Given the description of an element on the screen output the (x, y) to click on. 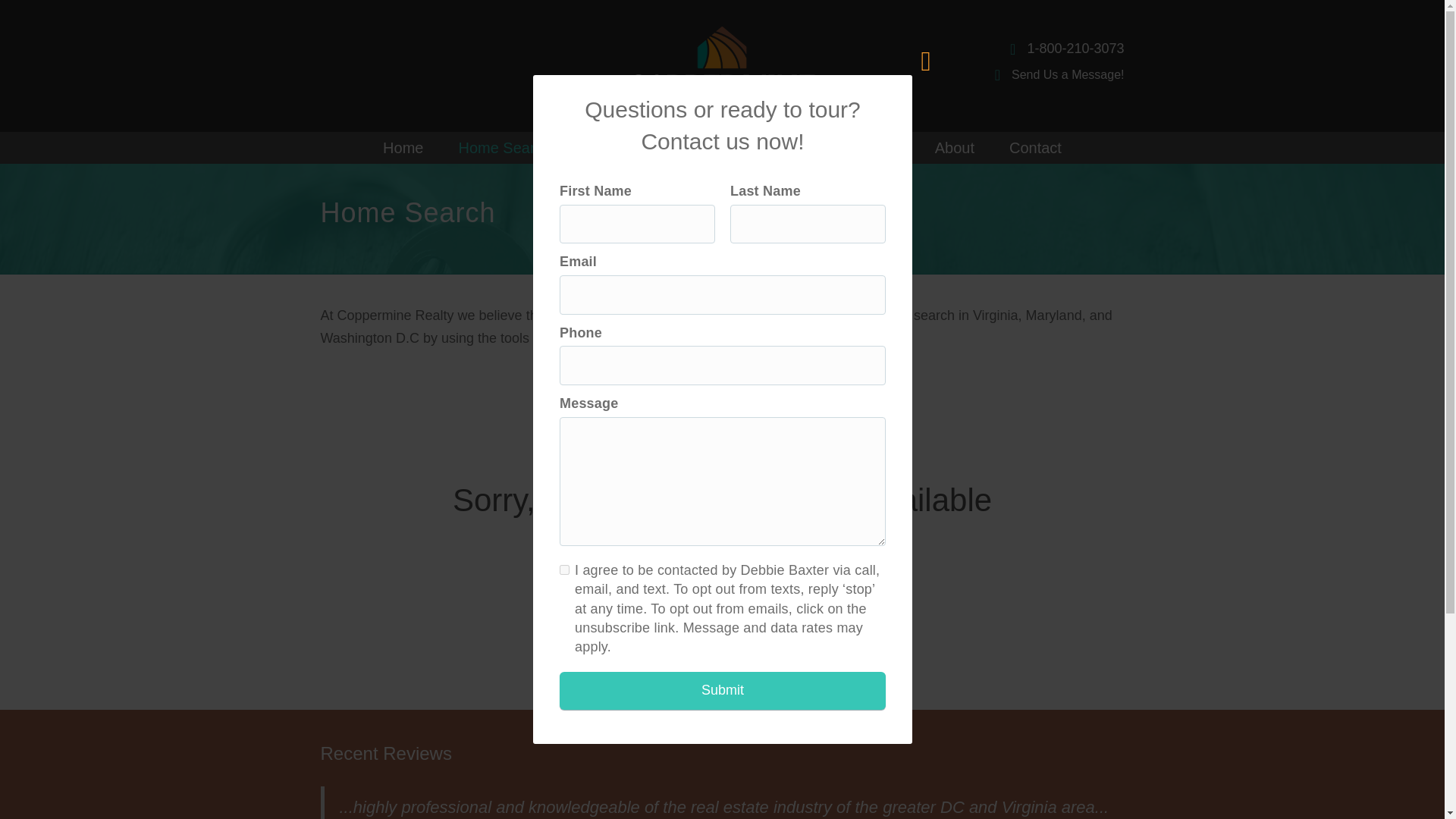
Start A New Search (721, 612)
Coppermine Listings (655, 147)
logo-whitetext-transpshad370 (721, 65)
Home (402, 147)
on (564, 569)
Contact us now! (797, 337)
Send Us a Message! (1074, 75)
Real Estate Services (829, 147)
1-800-210-3073 (1093, 48)
Home Search (504, 147)
About (954, 147)
Contact (1035, 147)
